Given the description of an element on the screen output the (x, y) to click on. 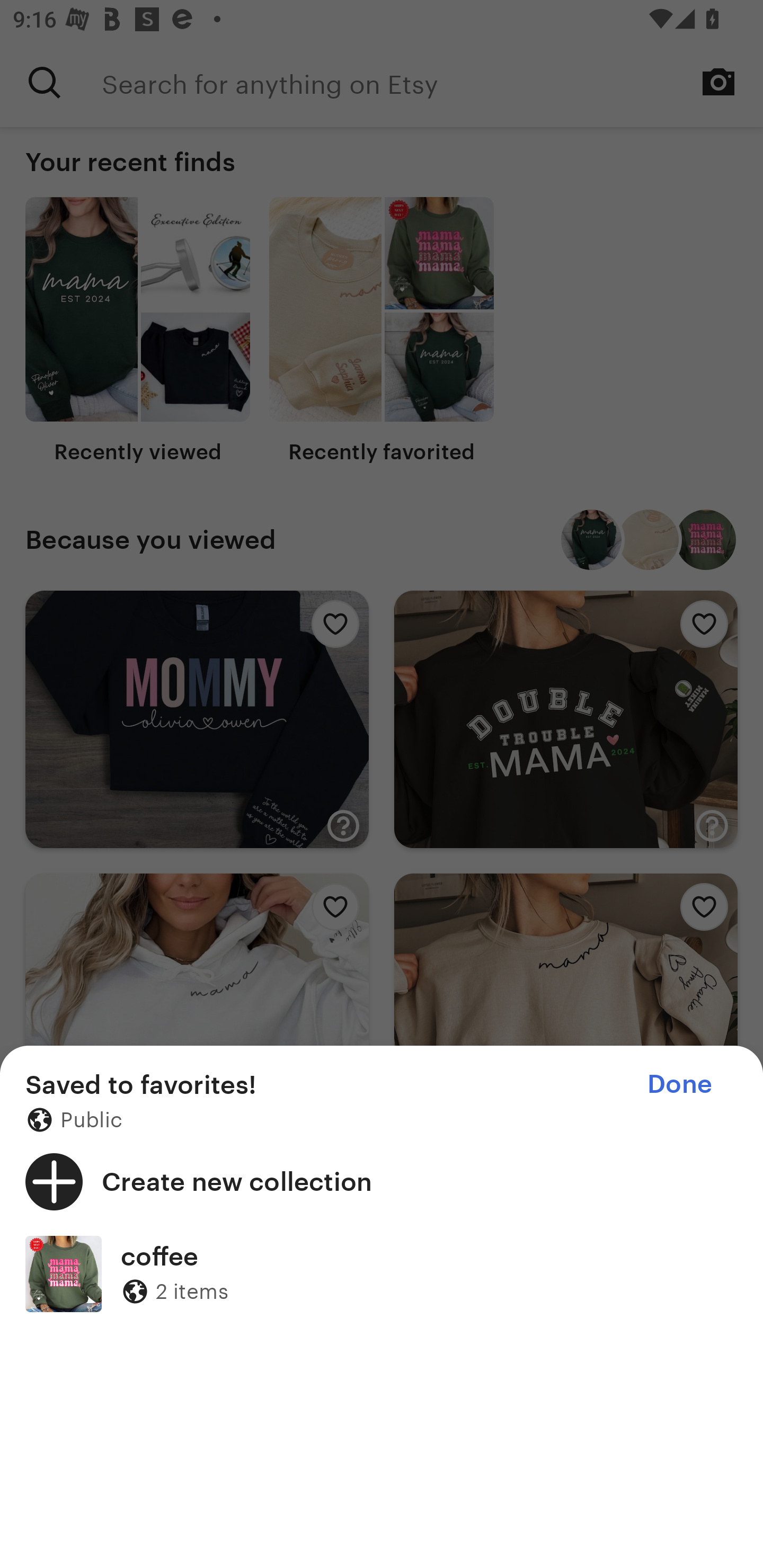
Done (679, 1083)
Create new collection (381, 1181)
coffee 2 items (381, 1273)
